Given the description of an element on the screen output the (x, y) to click on. 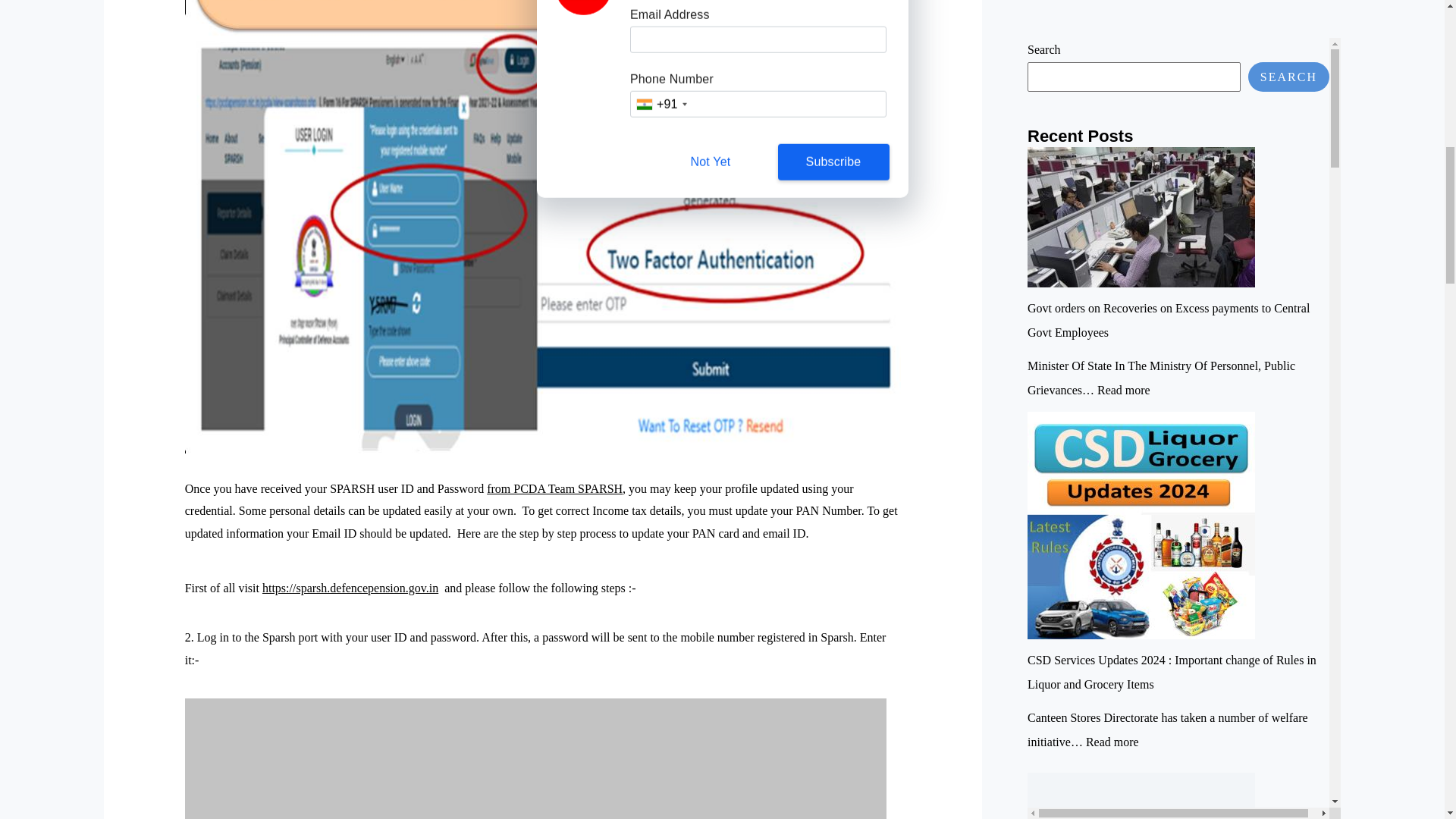
from PCDA Team SPARSH (554, 488)
